Given the description of an element on the screen output the (x, y) to click on. 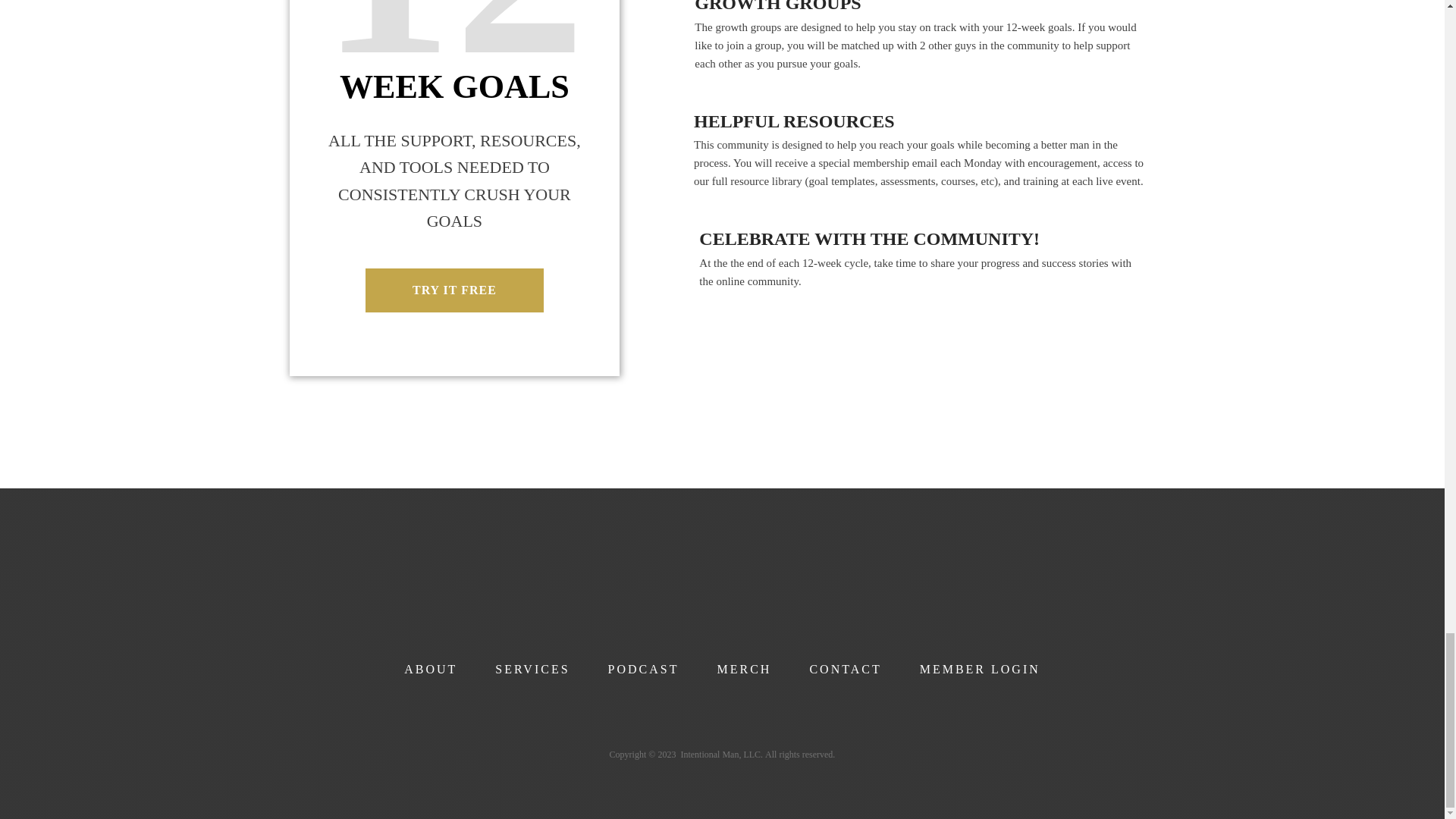
ABOUT (430, 669)
PODCAST (643, 669)
TRY IT FREE (454, 290)
CONTACT (844, 669)
Intentional Man, LLC.  (722, 754)
SERVICES (532, 669)
MEMBER LOGIN (980, 669)
MERCH (744, 669)
